Given the description of an element on the screen output the (x, y) to click on. 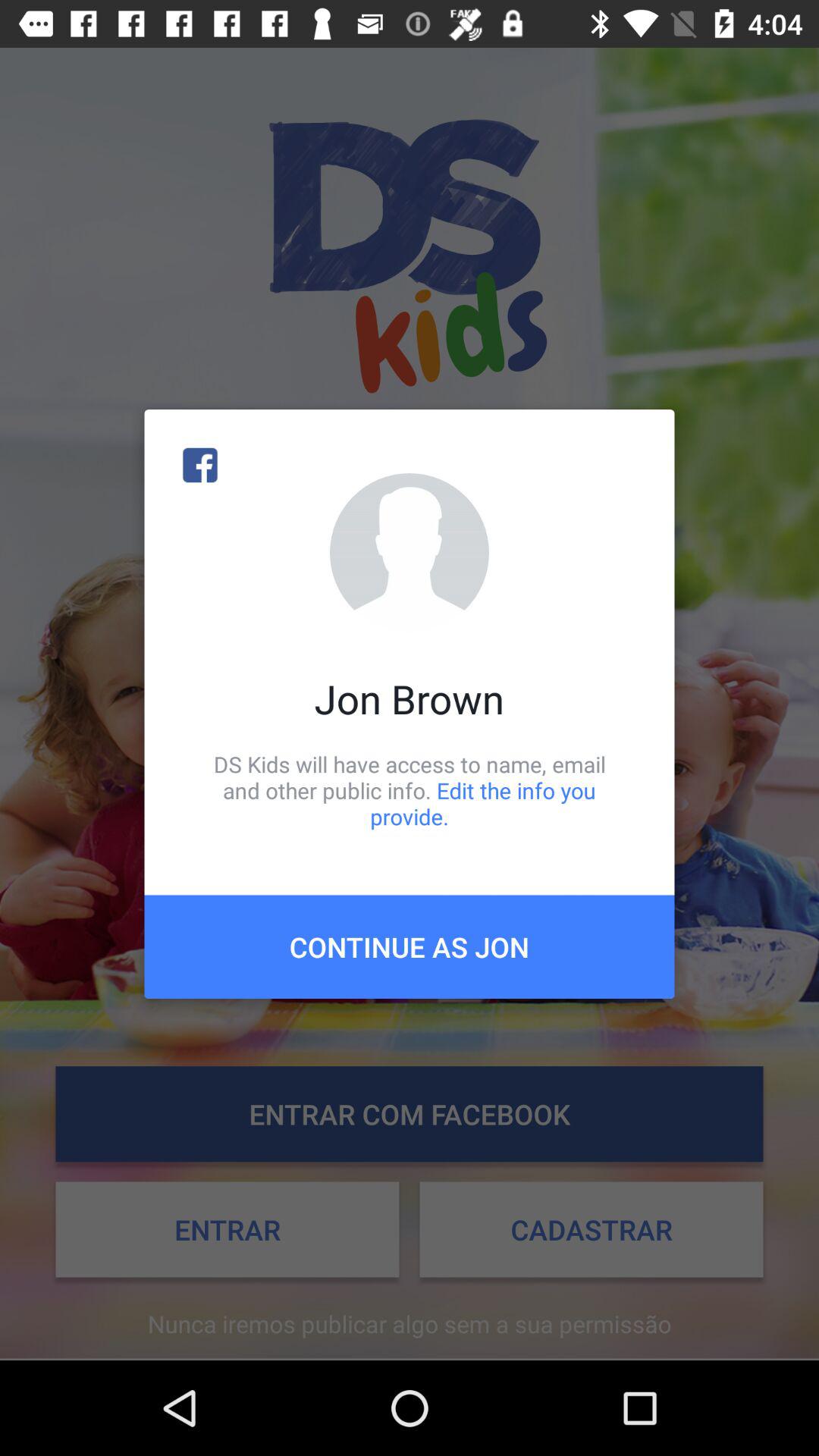
launch the item above continue as jon (409, 790)
